Given the description of an element on the screen output the (x, y) to click on. 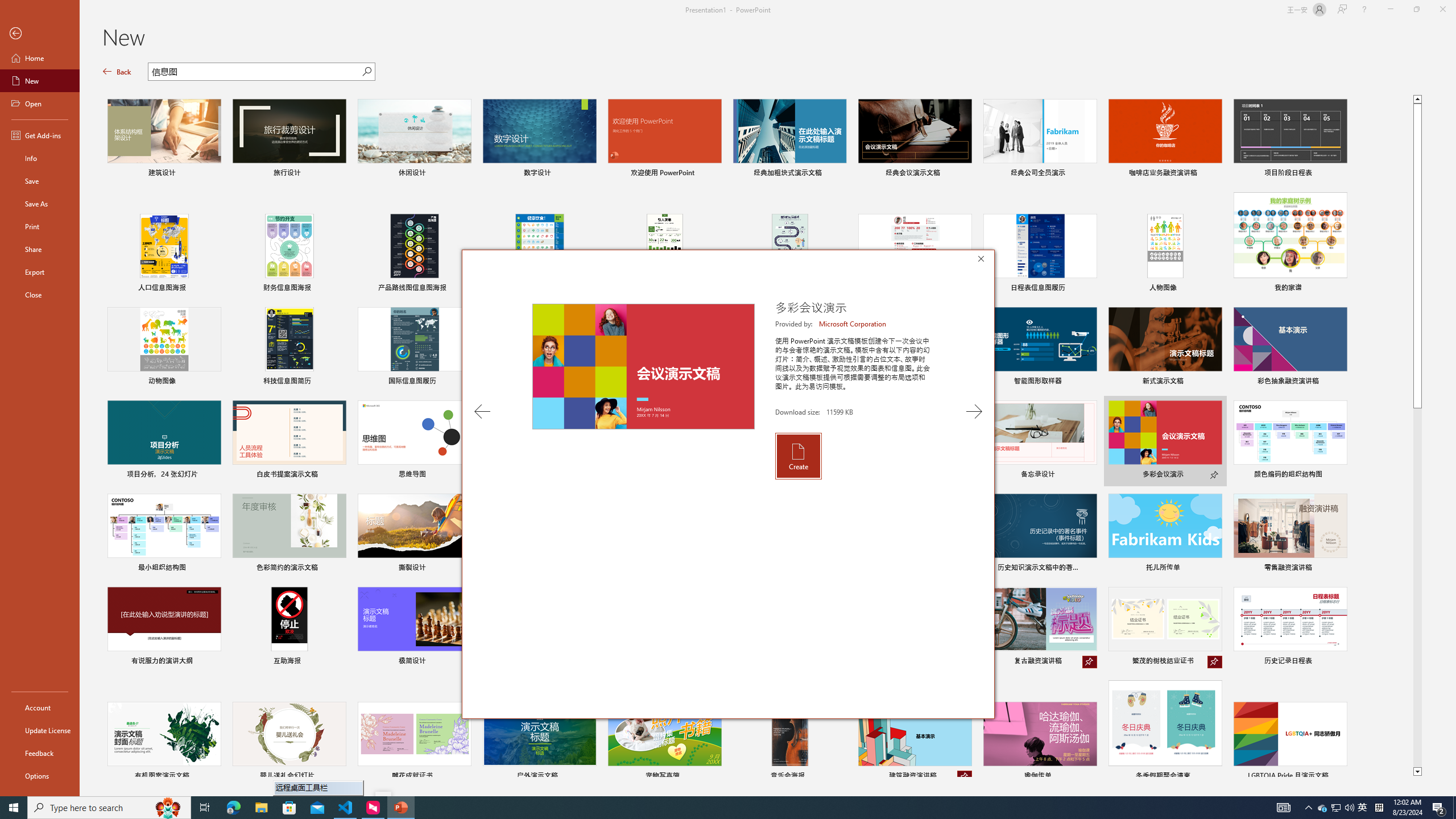
User Promoted Notification Area (1336, 807)
Start (13, 807)
Options (40, 775)
Print (40, 225)
Get Add-ins (40, 134)
Show desktop (1454, 807)
New (40, 80)
Next Template (974, 411)
Search highlights icon opens search home window (167, 807)
